Given the description of an element on the screen output the (x, y) to click on. 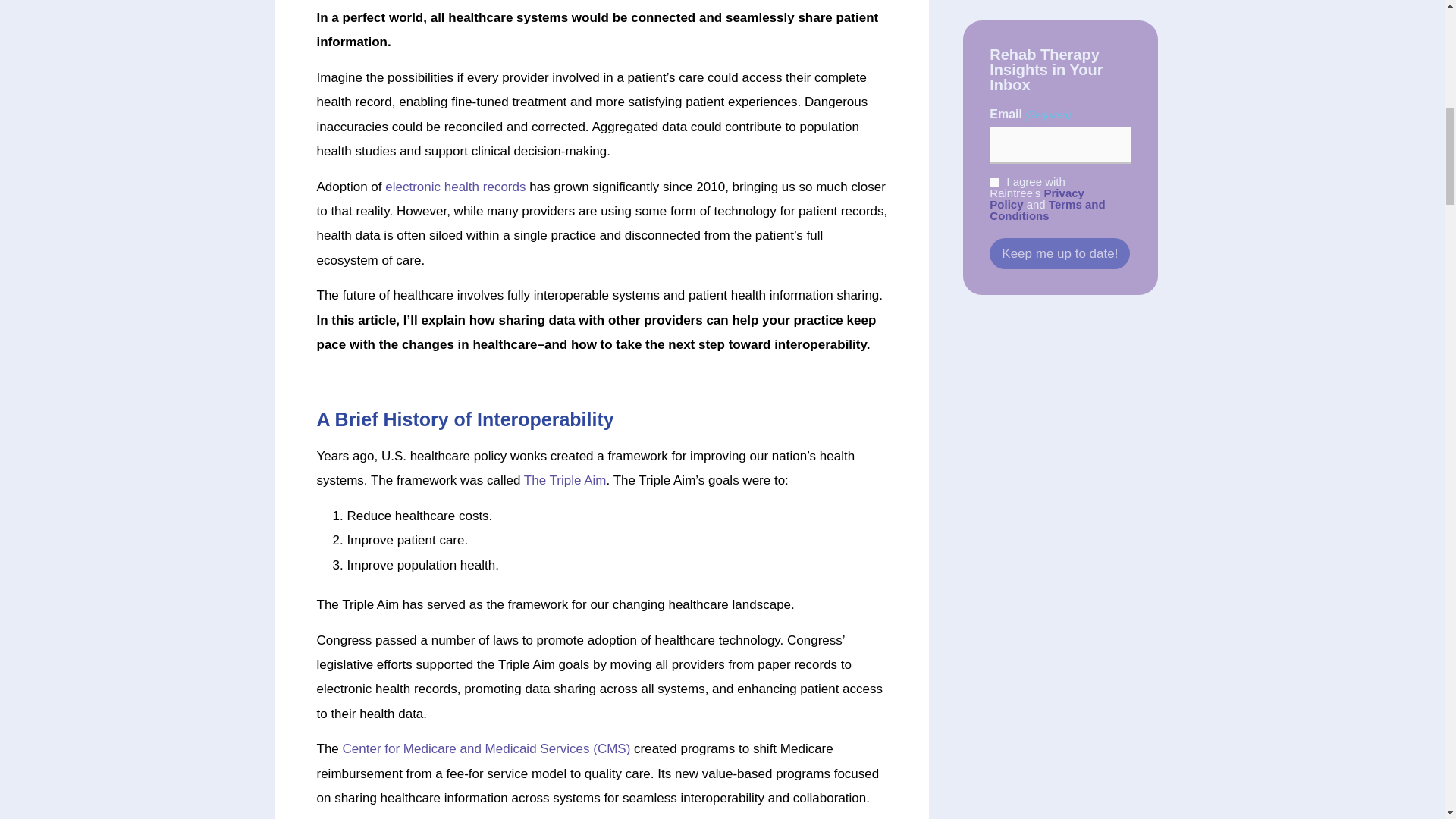
Keep me up to date! (1059, 254)
